Given the description of an element on the screen output the (x, y) to click on. 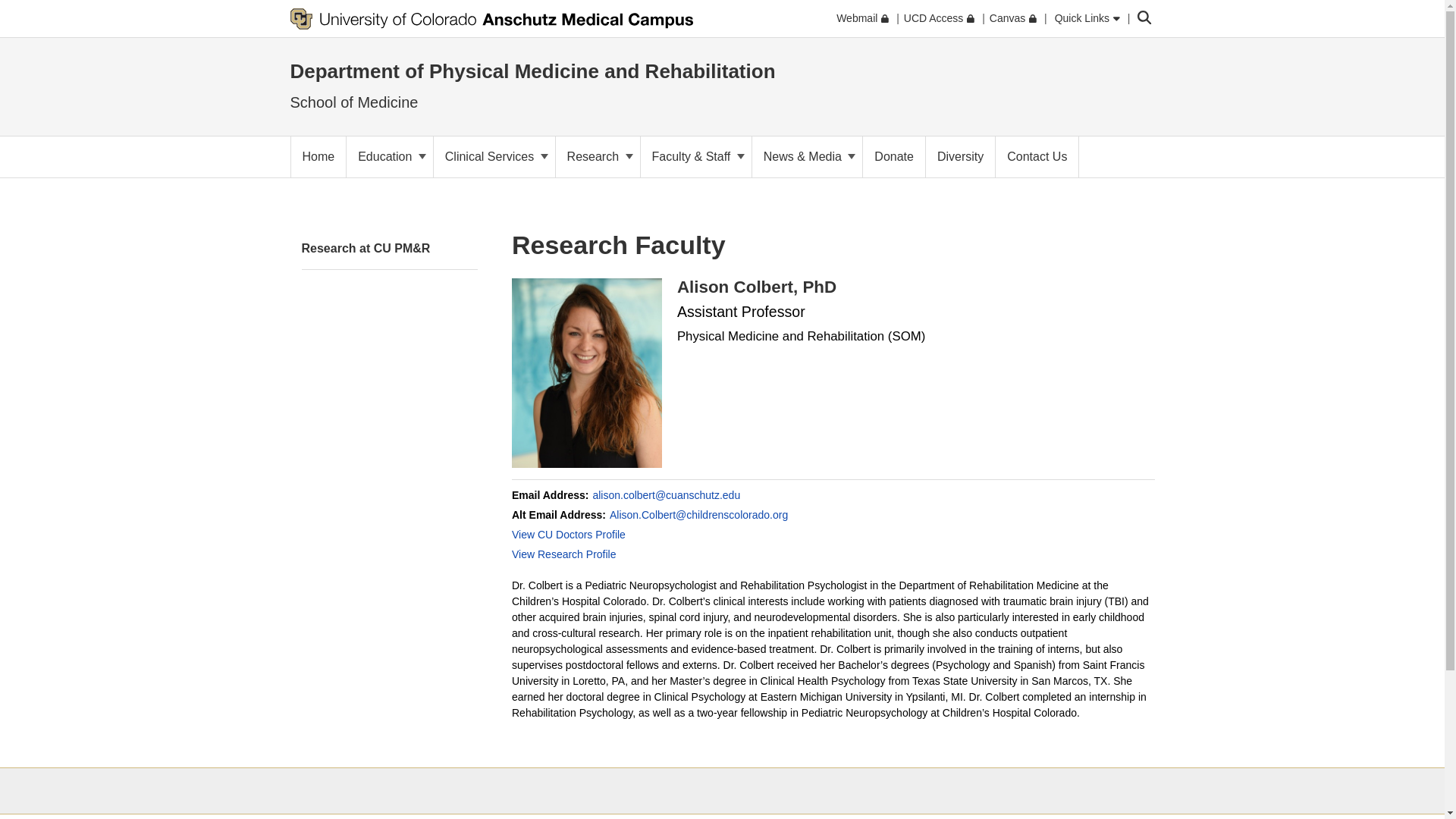
Canvas (1013, 18)
UCD Access (939, 18)
Education (389, 156)
Quick Links (1086, 18)
Home (318, 156)
Webmail (861, 18)
Department of Physical Medicine and Rehabilitation (531, 70)
